Given the description of an element on the screen output the (x, y) to click on. 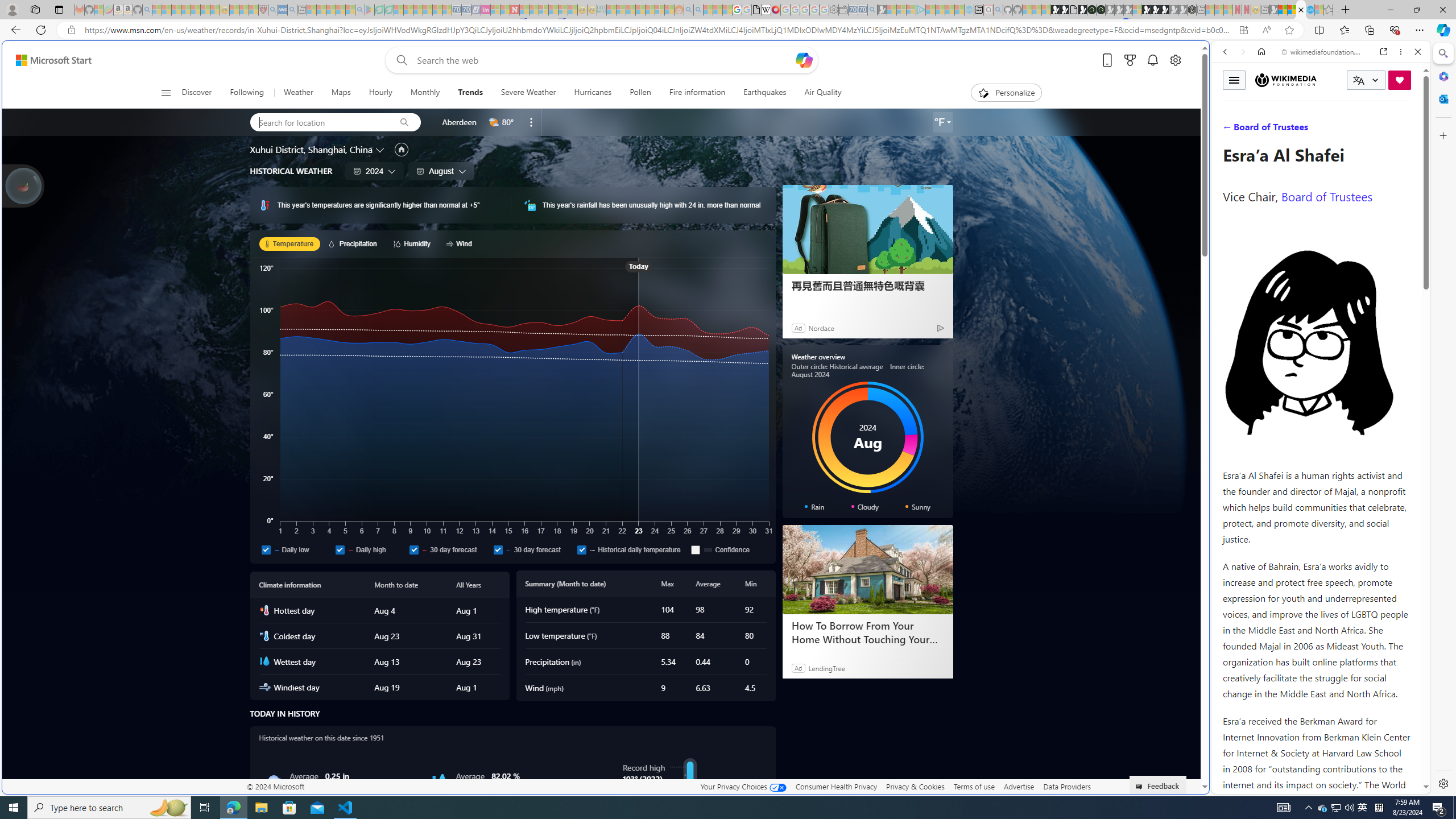
Maps (340, 92)
utah sues federal government - Search (922, 389)
Data Providers (1066, 786)
Board of Trustees (1326, 195)
